Given the description of an element on the screen output the (x, y) to click on. 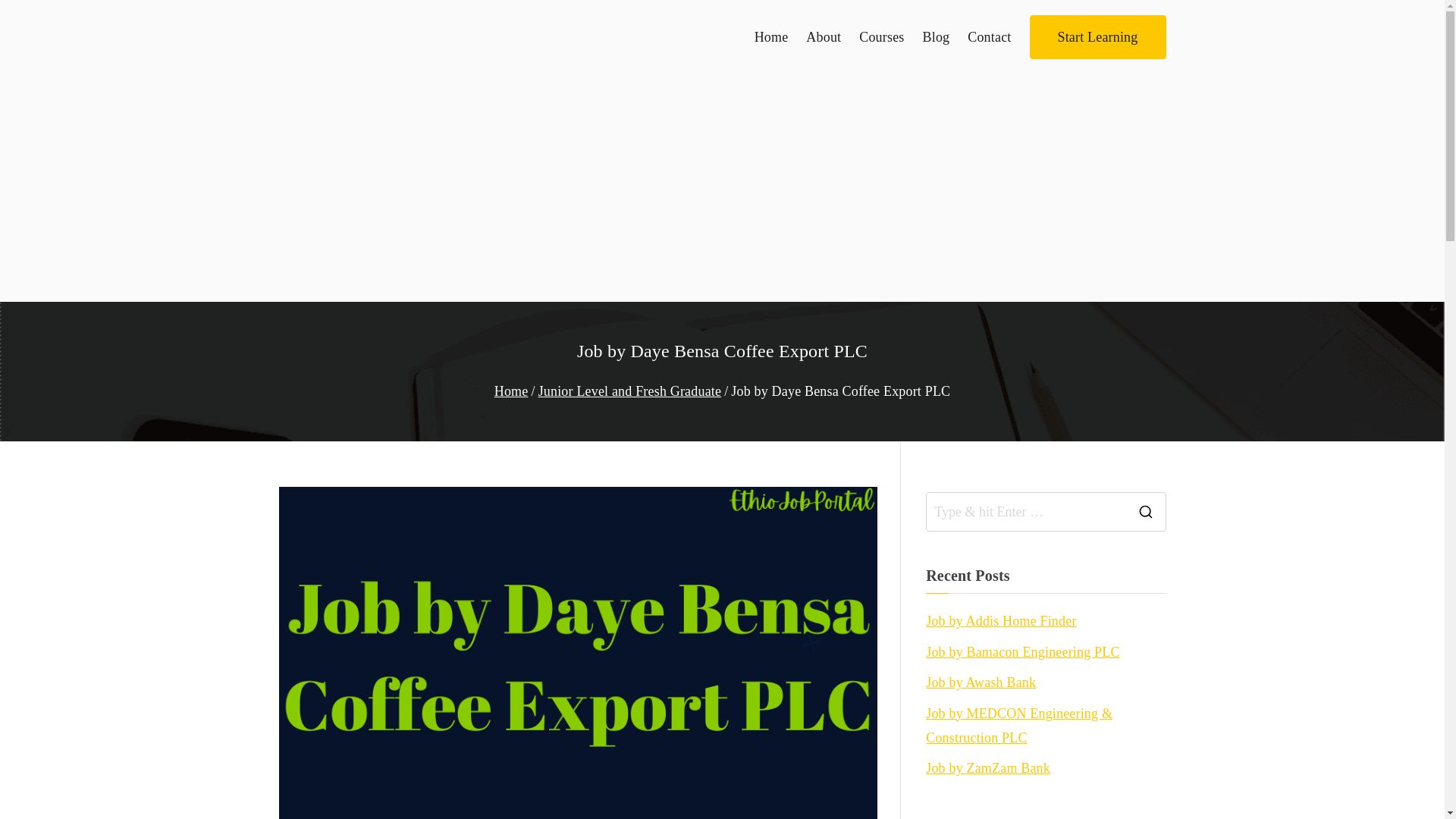
Junior Level and Fresh Graduate (630, 391)
Contact (989, 37)
About (823, 37)
Search (26, 18)
Home (511, 391)
Start Learning (1097, 36)
EduSkill (336, 56)
Job by ZamZam Bank (987, 767)
Job by Bamacon Engineering PLC (1022, 651)
Job by Addis Home Finder (1000, 621)
